Given the description of an element on the screen output the (x, y) to click on. 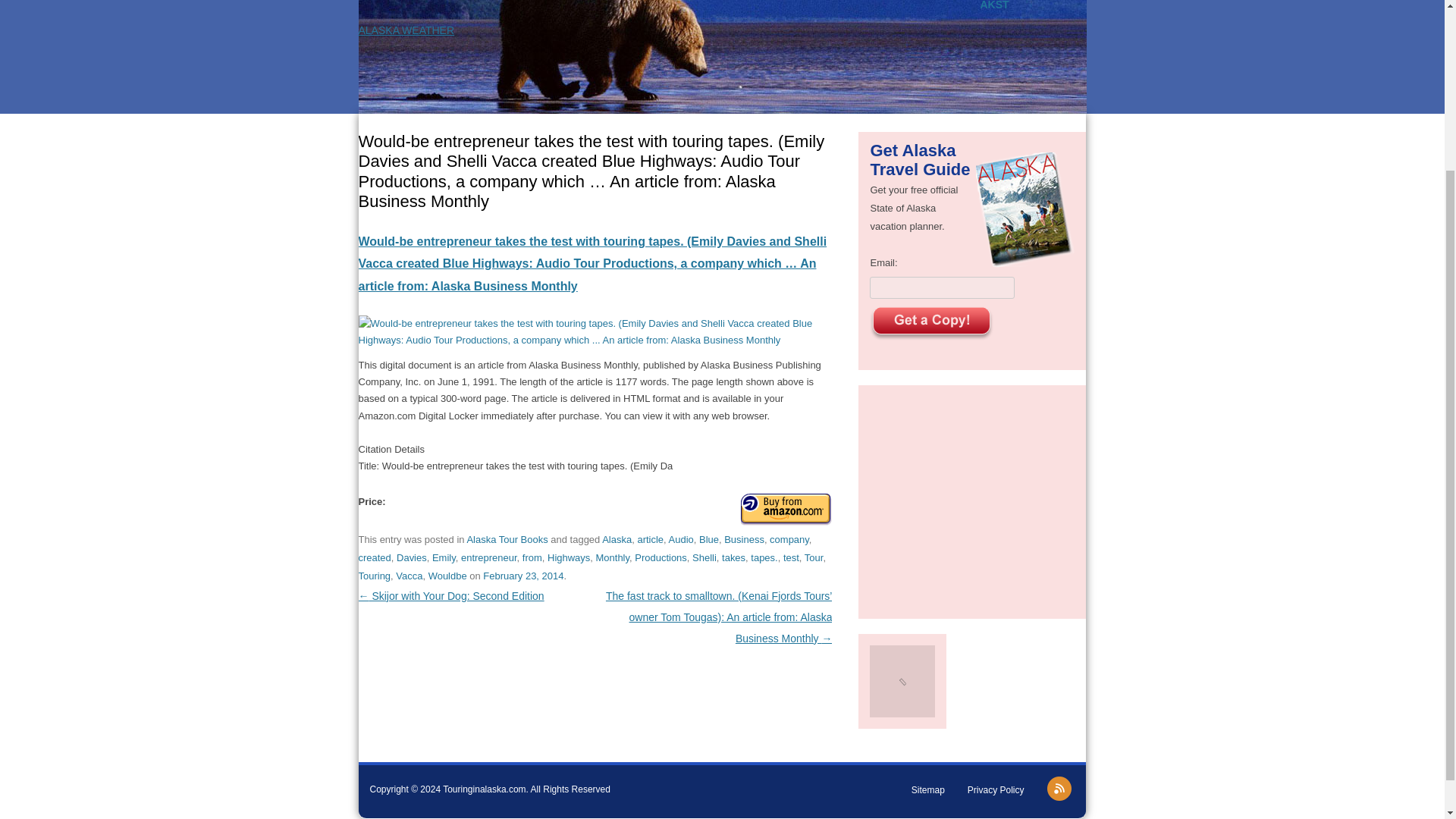
Advertisement (972, 498)
tapes. (764, 557)
Audio (681, 539)
Davies (411, 557)
AKST (994, 5)
Touring (374, 575)
Alaska (616, 539)
Highways (568, 557)
Emily (443, 557)
Productions (660, 557)
